Given the description of an element on the screen output the (x, y) to click on. 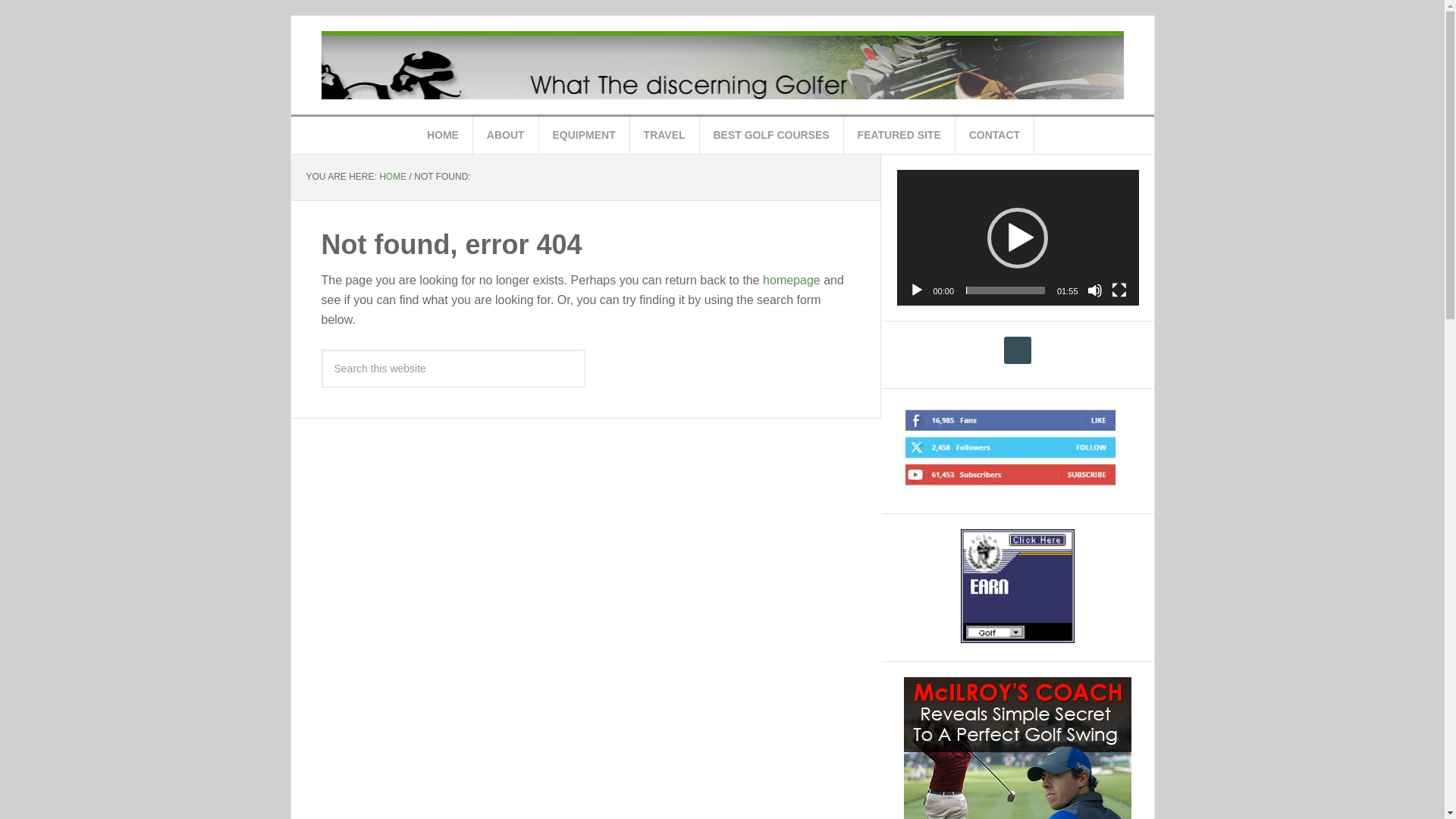
FEATURED SITE (899, 135)
TRAVEL (665, 135)
HOME (392, 176)
Fullscreen (1119, 290)
EQUIPMENT (583, 135)
ABOUT (505, 135)
homepage (791, 278)
HOME (443, 135)
Top Ten Golf Products (722, 65)
Play (915, 290)
BEST GOLF COURSES (770, 135)
CONTACT (994, 135)
